Given the description of an element on the screen output the (x, y) to click on. 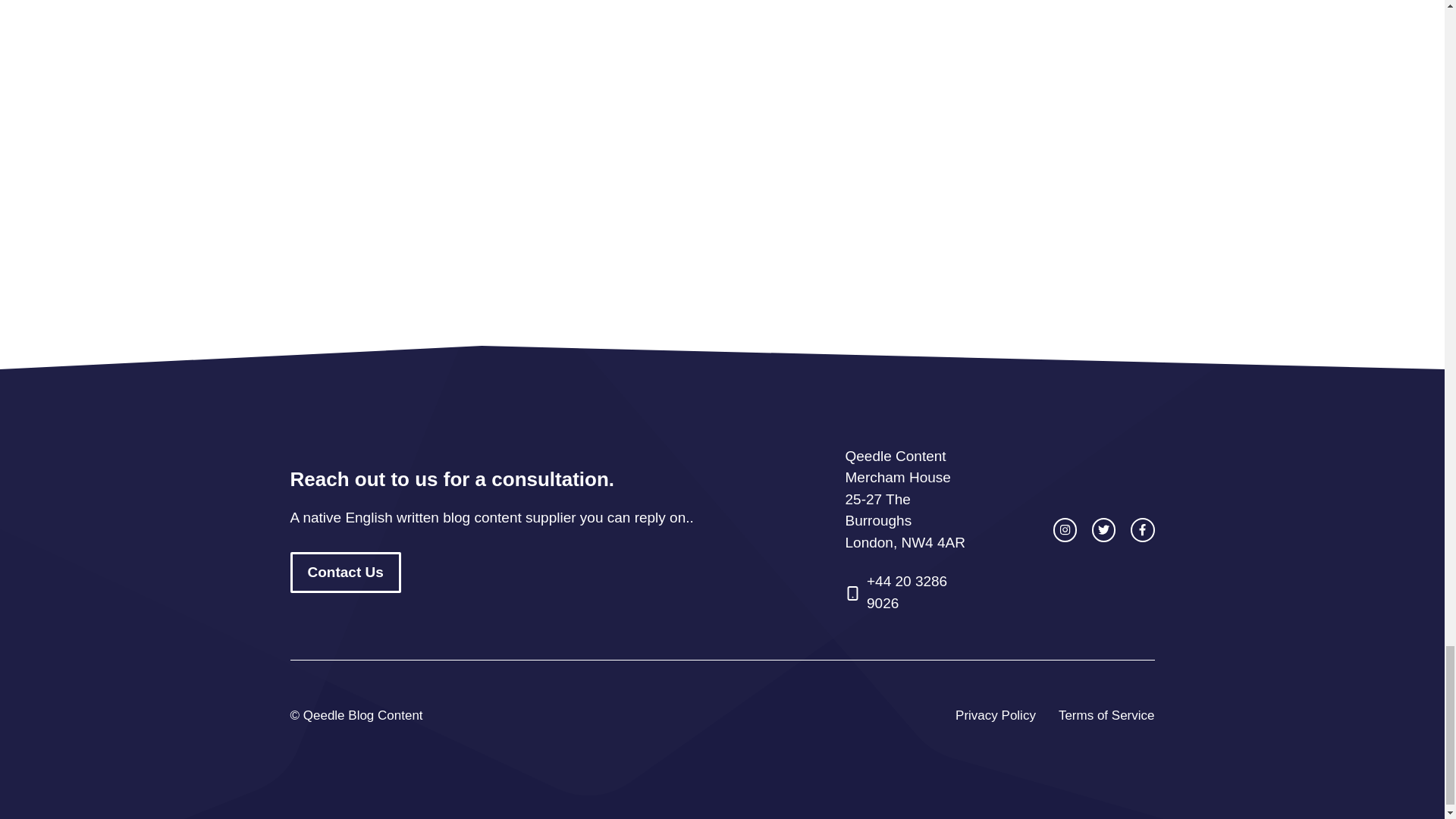
Contact Us (344, 572)
Terms of Service (1106, 715)
Privacy Policy (995, 715)
